Given the description of an element on the screen output the (x, y) to click on. 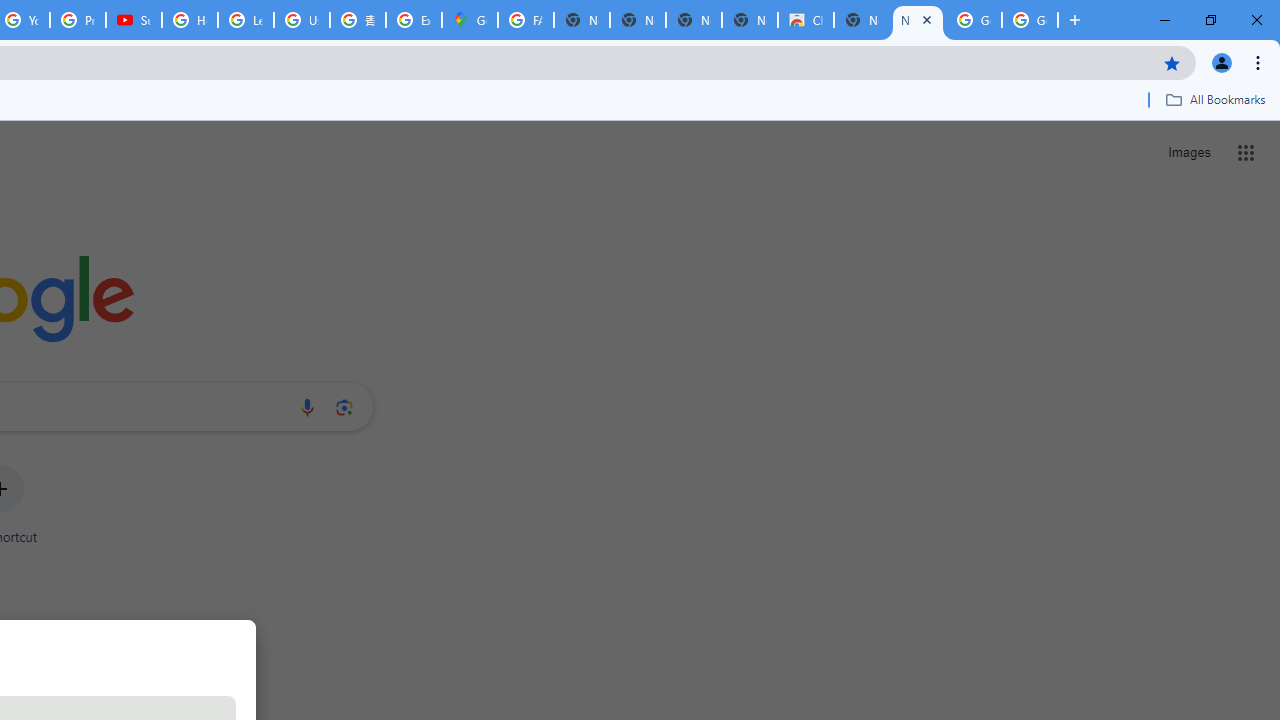
Google Images (973, 20)
New Tab (917, 20)
Google Images (1030, 20)
How Chrome protects your passwords - Google Chrome Help (189, 20)
Google Maps (469, 20)
Explore new street-level details - Google Maps Help (413, 20)
